Given the description of an element on the screen output the (x, y) to click on. 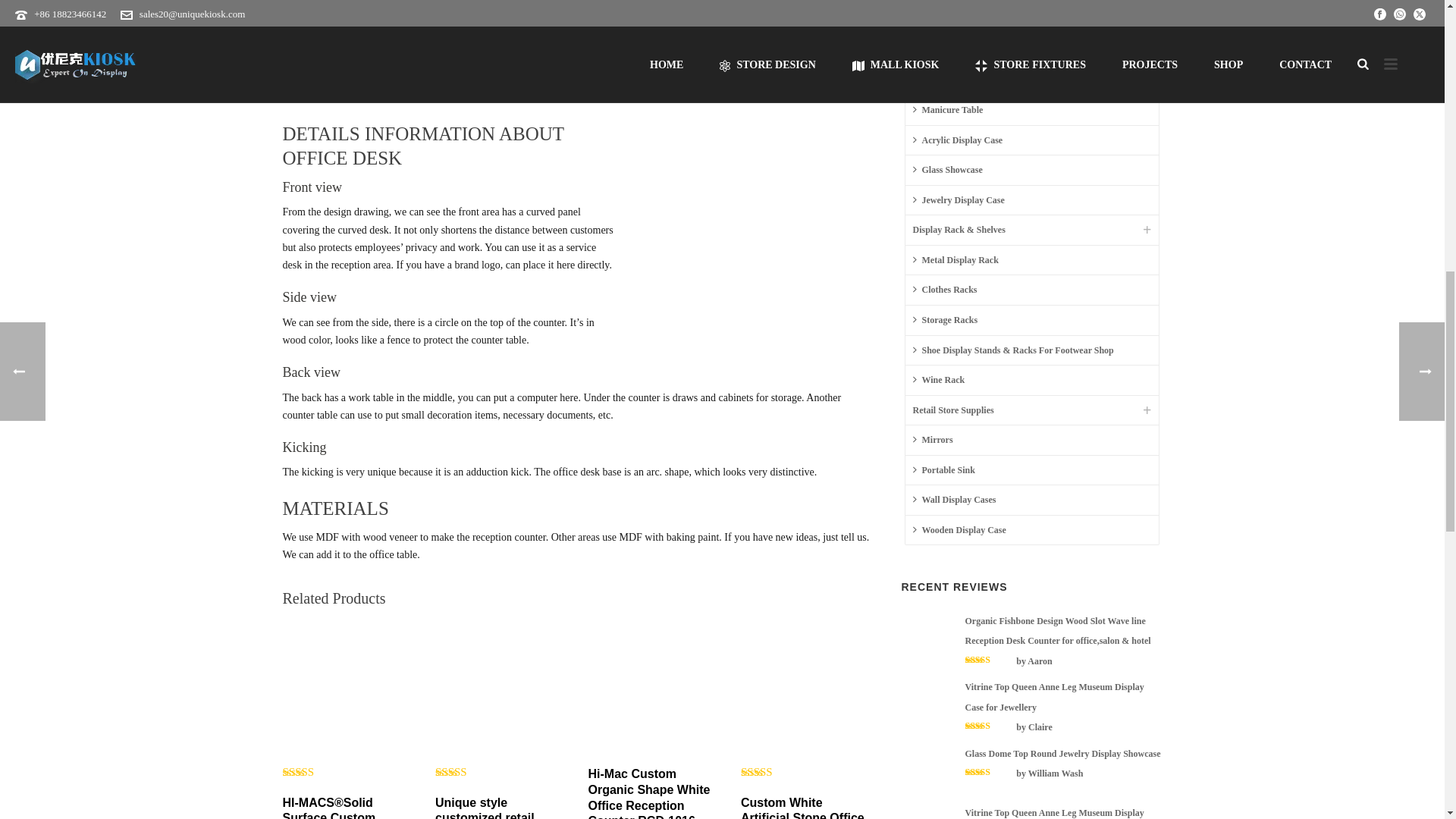
Rated 5.00 out of 5 (465, 772)
Rated 5.00 out of 5 (312, 772)
Rated 5.00 out of 5 (771, 772)
